Given the description of an element on the screen output the (x, y) to click on. 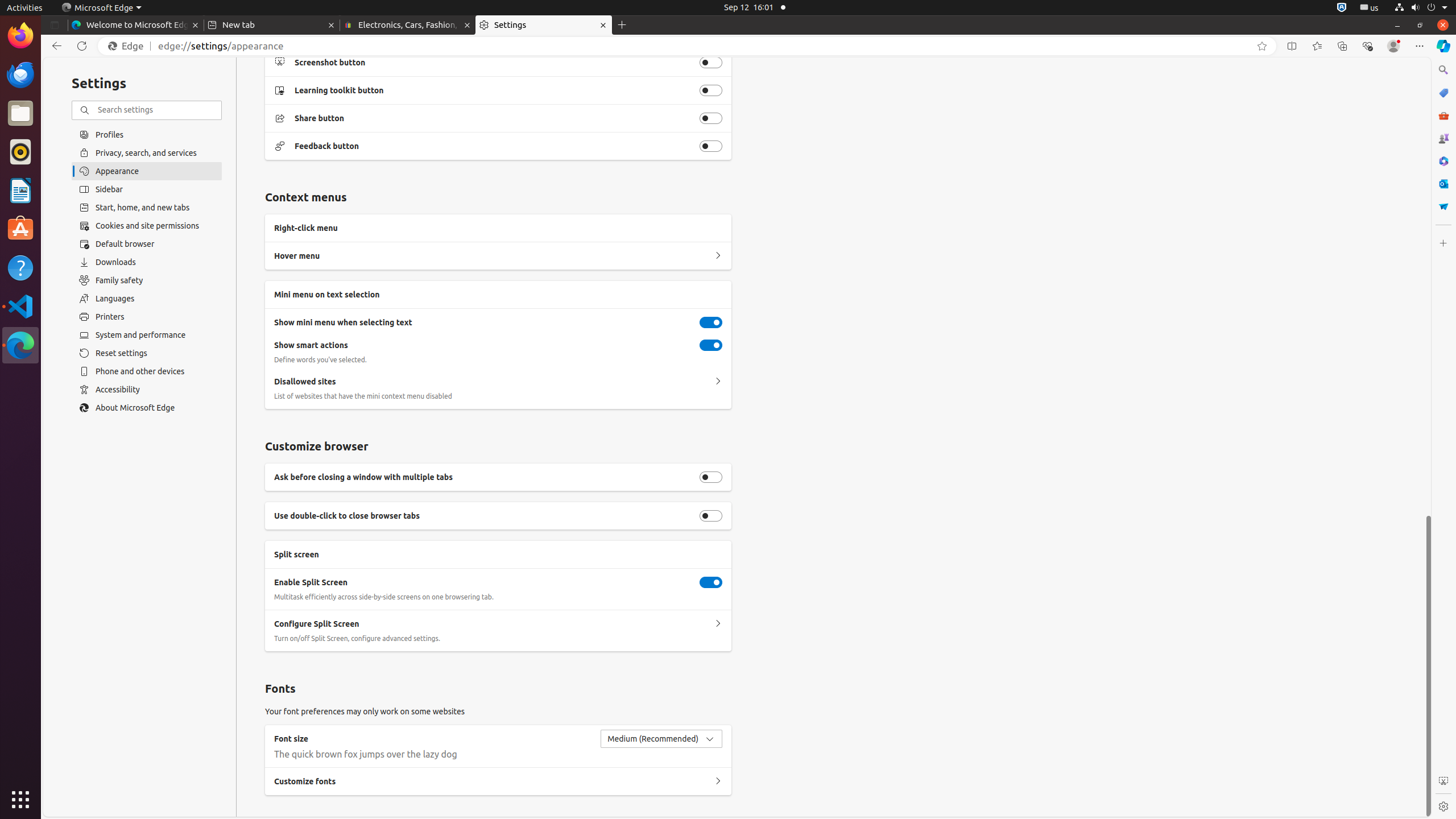
Appearance Element type: tree-item (146, 171)
Favorites Element type: push-button (1316, 45)
Electronics, Cars, Fashion, Collectibles & More | eBay Element type: page-tab (407, 25)
Thunderbird Mail Element type: push-button (20, 74)
Printers Element type: tree-item (146, 316)
